Given the description of an element on the screen output the (x, y) to click on. 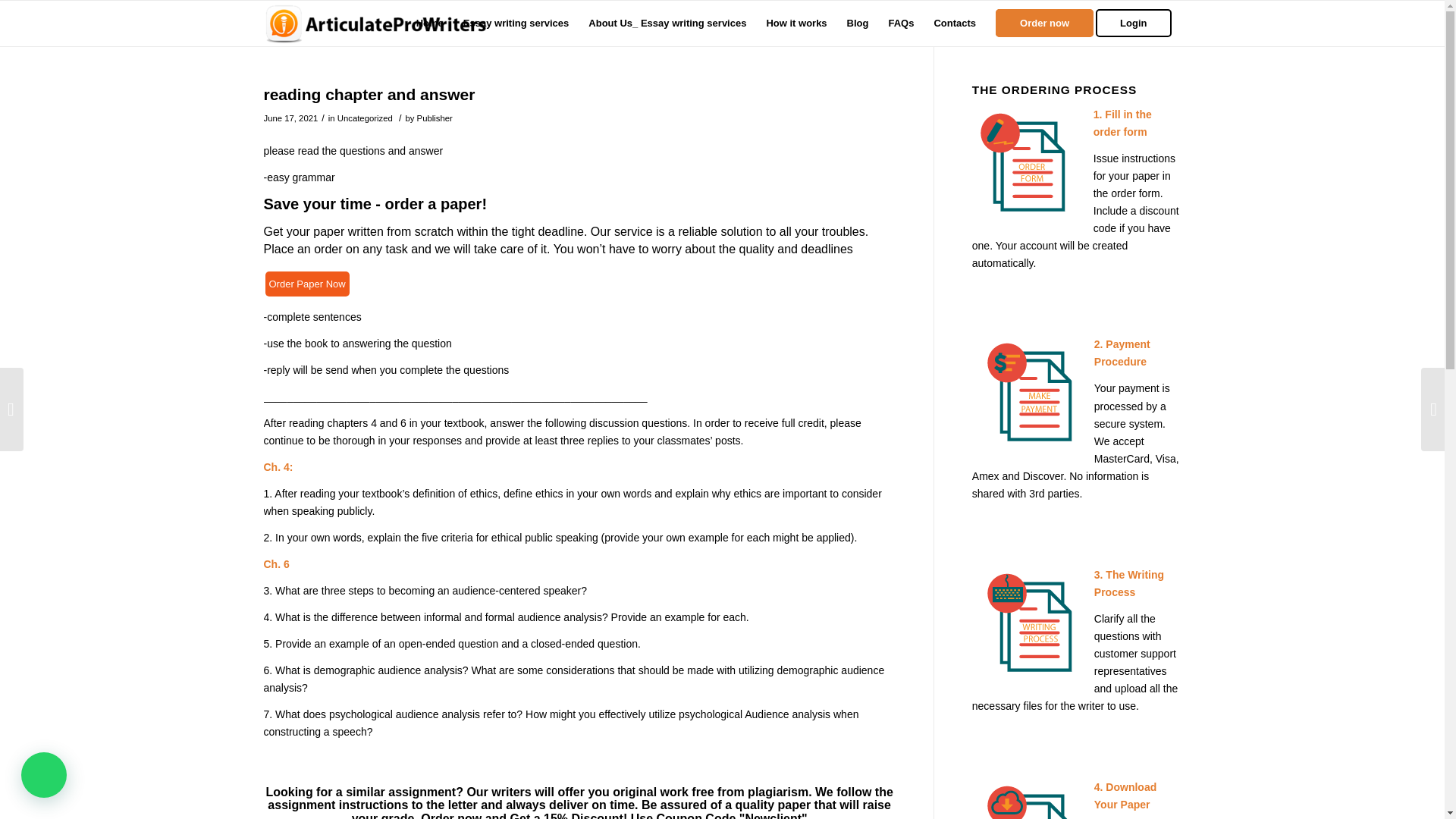
Login (1138, 22)
Posts by Publisher (434, 117)
Order Paper Now (306, 283)
FAQs (900, 22)
Contacts (954, 22)
Permanent Link: reading chapter and answer (369, 94)
Order now (1044, 22)
Home (429, 22)
Essay writing services (515, 22)
How it works (795, 22)
Blog (858, 22)
reading chapter and answer (369, 94)
Publisher (434, 117)
Uncategorized (365, 117)
